Given the description of an element on the screen output the (x, y) to click on. 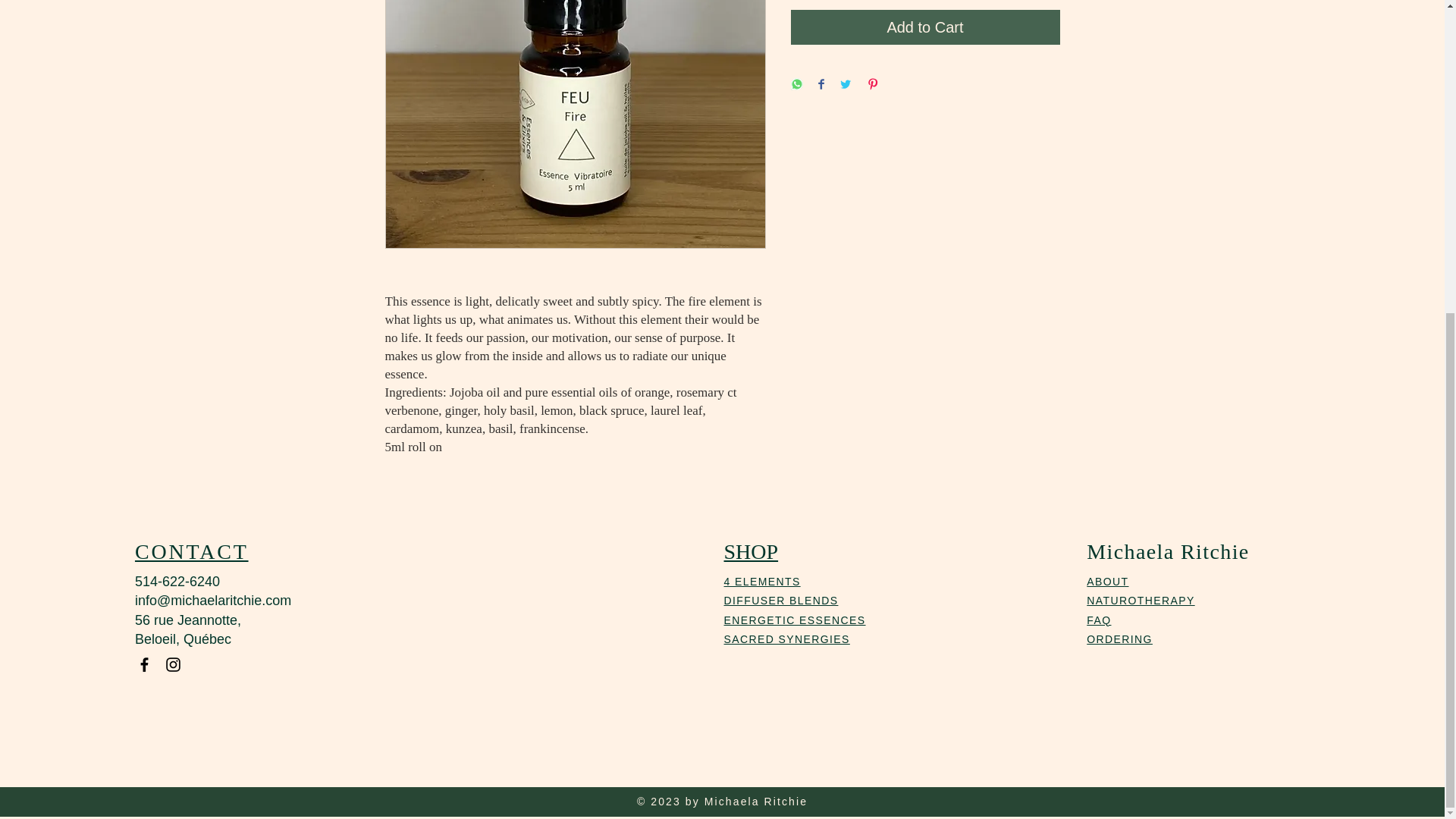
ORDERING (1119, 639)
ENERGETIC ESSENCES (794, 620)
SHOP (750, 551)
SACRED SYNERGIES (786, 639)
4 ELEMENTS (761, 581)
NATUROTHERAPY (1139, 600)
ABOUT (1107, 581)
CONTACT (191, 551)
Add to Cart (924, 27)
FAQ (1098, 620)
DIFFUSER BLENDS (780, 600)
